Given the description of an element on the screen output the (x, y) to click on. 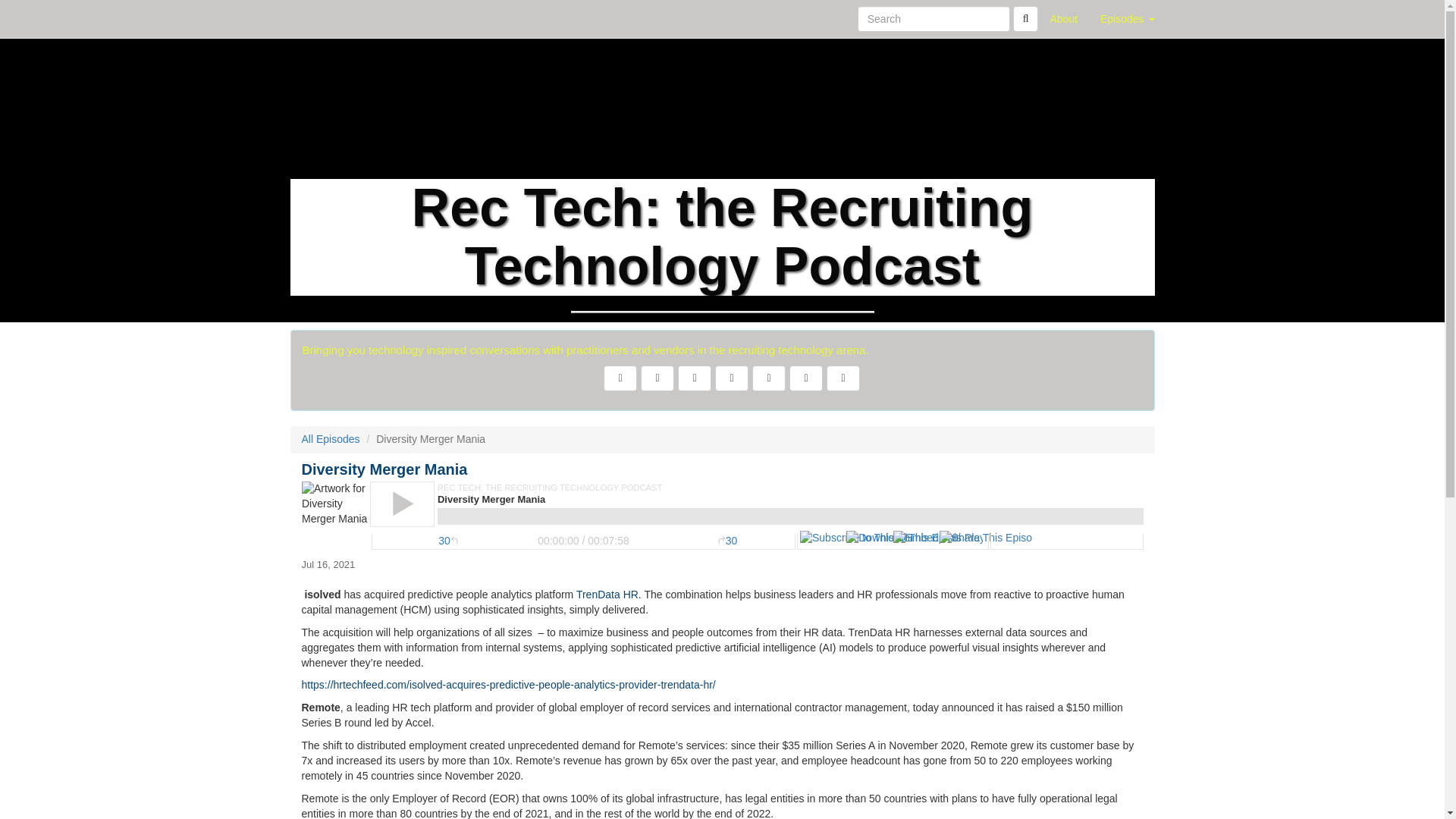
About (1063, 18)
Episodes (1127, 18)
Diversity Merger Mania (721, 515)
Home Page (320, 18)
